Given the description of an element on the screen output the (x, y) to click on. 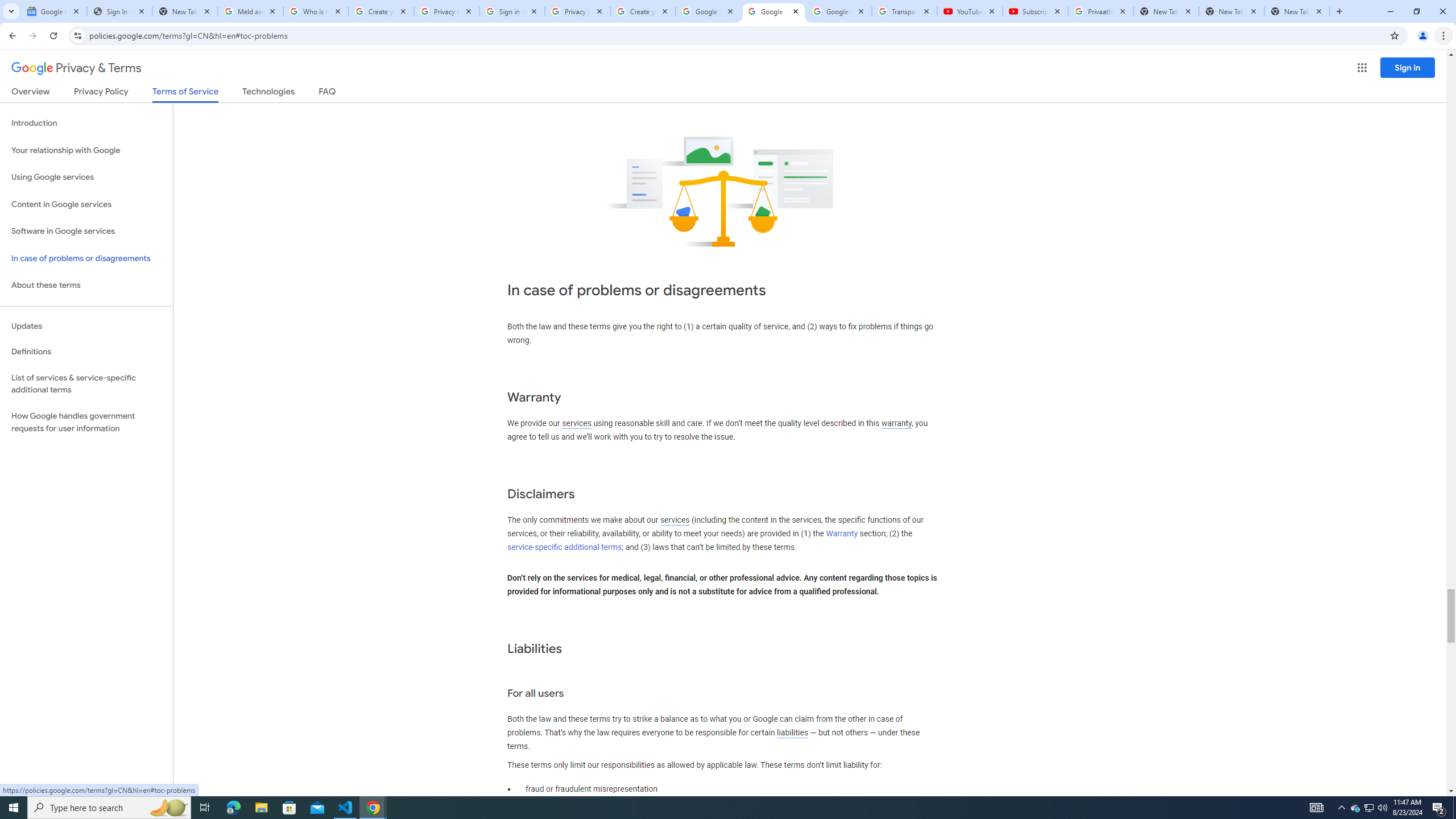
Definitions (86, 352)
Software in Google services (86, 230)
services (674, 520)
warranty (895, 423)
Introduction (86, 122)
FAQ (327, 93)
In case of problems or disagreements (86, 258)
Subscriptions - YouTube (1035, 11)
Sign in - Google Accounts (512, 11)
New Tab (1297, 11)
